Given the description of an element on the screen output the (x, y) to click on. 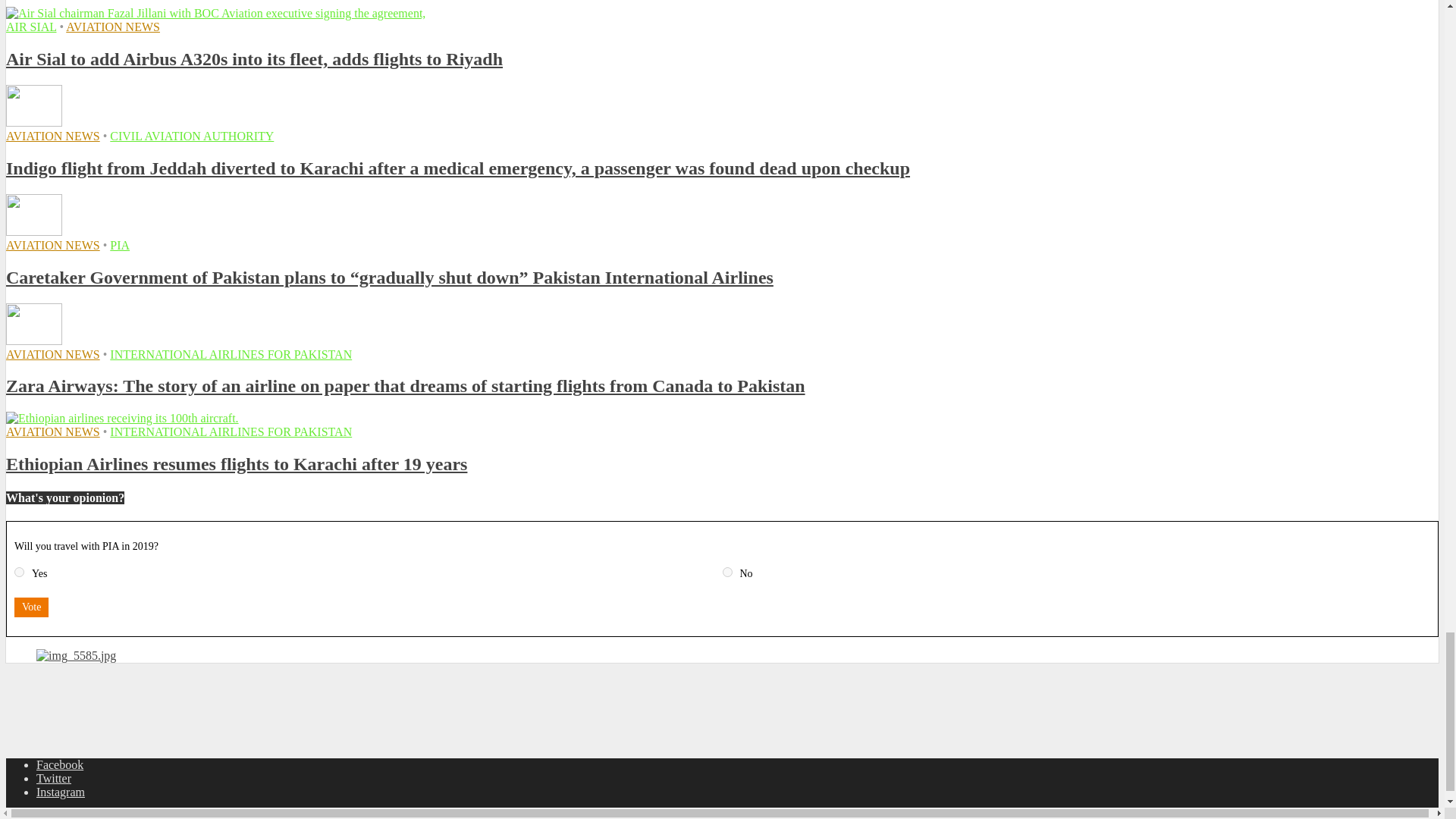
2 (727, 572)
Ethiopian Airlines resumes flights to Karachi after 19 years (121, 418)
1 (19, 572)
